Given the description of an element on the screen output the (x, y) to click on. 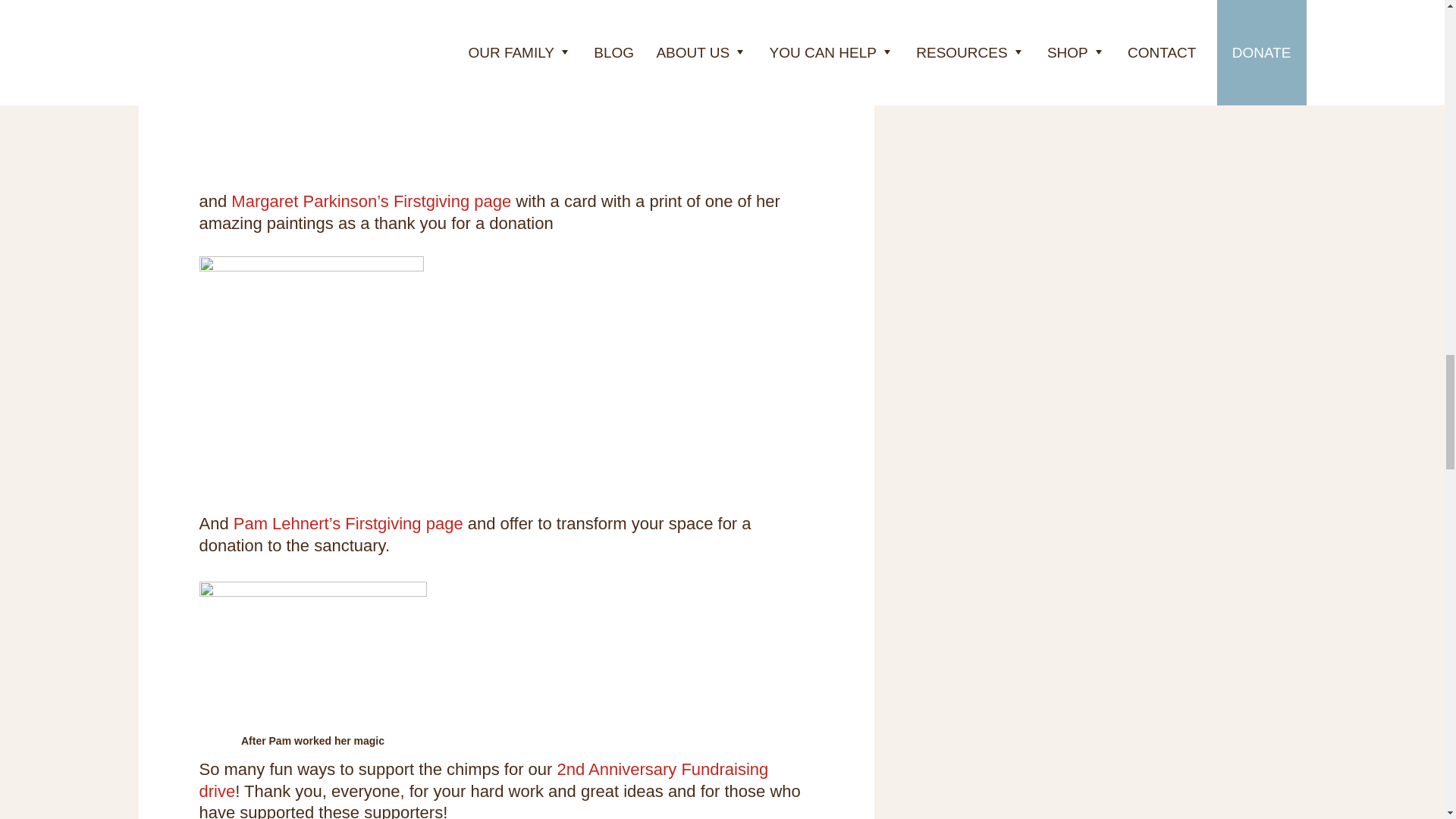
Margaret's Firstgiving page (371, 200)
foxie pin (293, 89)
